Given the description of an element on the screen output the (x, y) to click on. 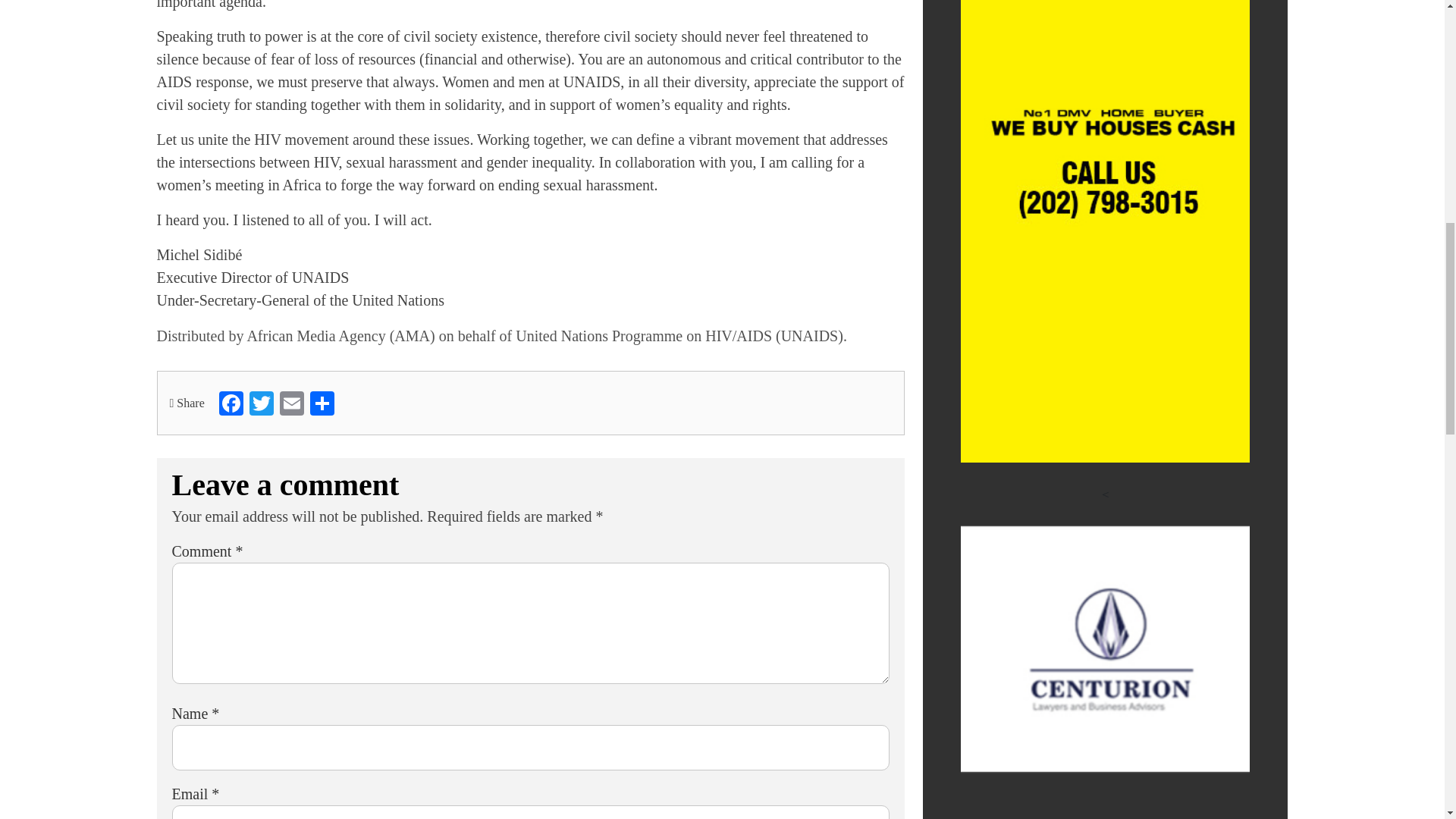
Twitter (261, 403)
Facebook (230, 403)
Email (291, 403)
